Given the description of an element on the screen output the (x, y) to click on. 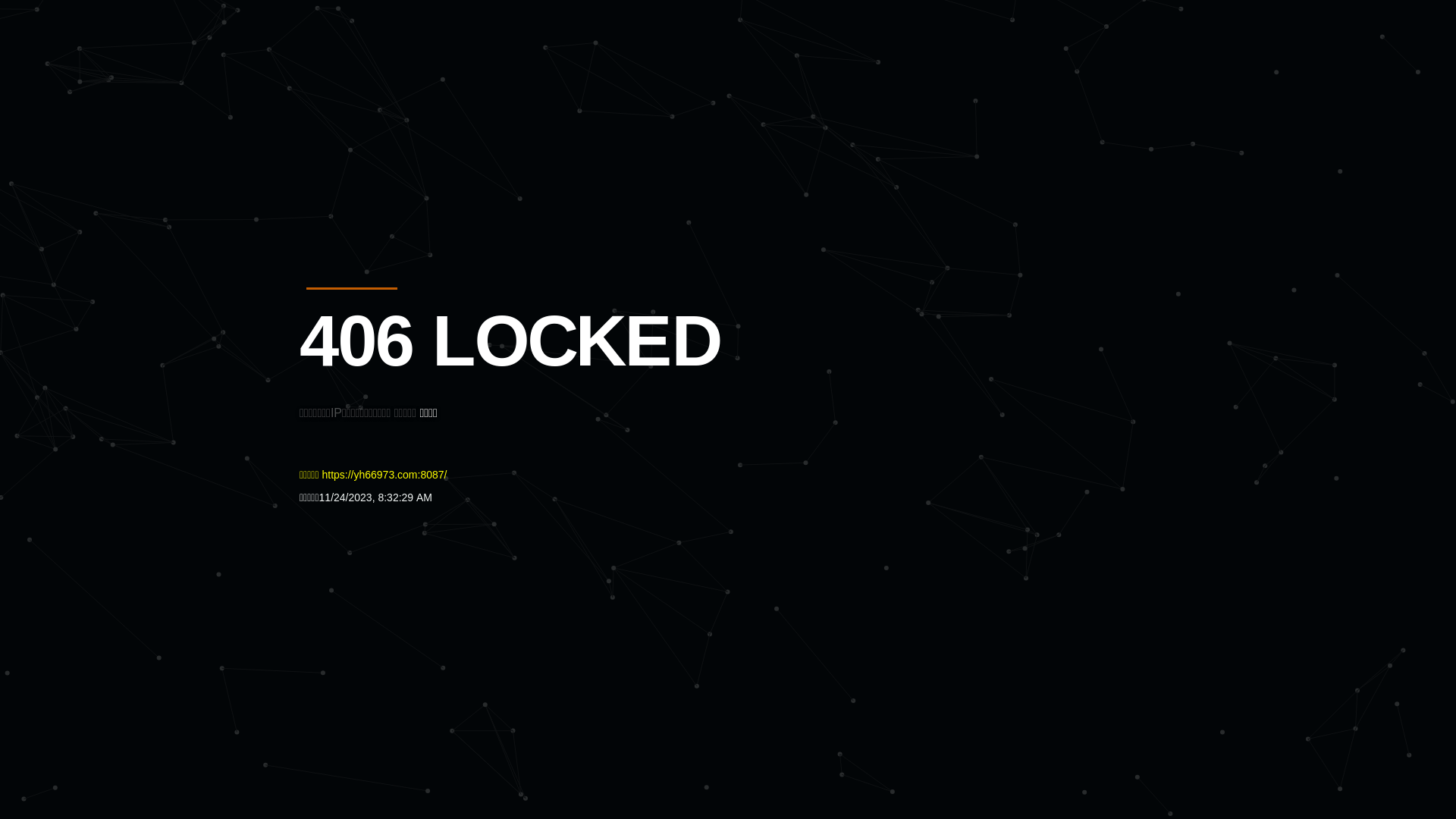
Quatro Element type: text (410, 86)
